Given the description of an element on the screen output the (x, y) to click on. 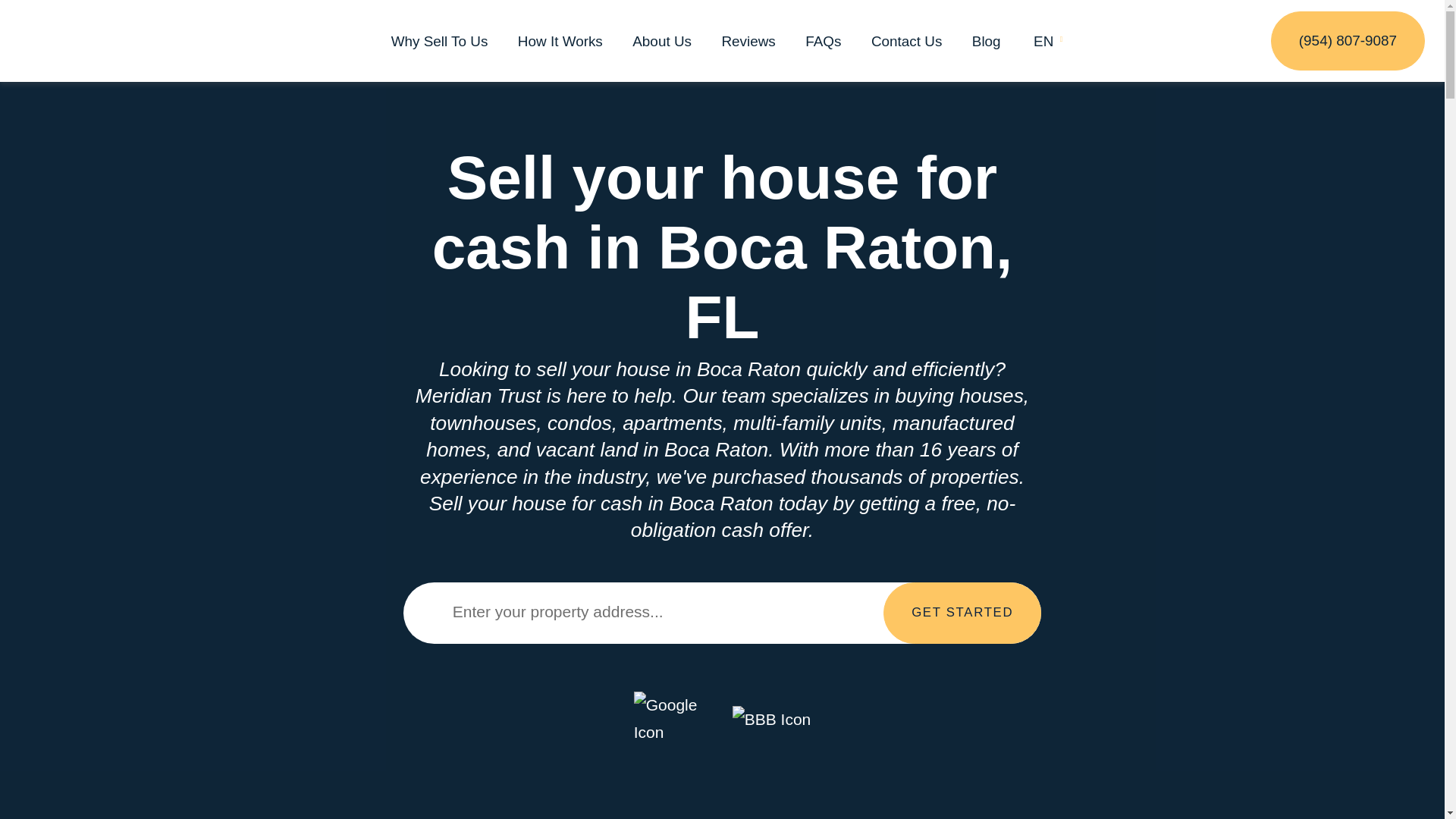
FAQs (823, 41)
Why Sell To Us (439, 41)
EN (1041, 41)
Meridian Trust (117, 41)
Blog (986, 41)
Reviews (747, 41)
EN (1041, 41)
How It Works (560, 41)
Contact Us (906, 41)
GET STARTED (962, 613)
About Us (661, 41)
